Given the description of an element on the screen output the (x, y) to click on. 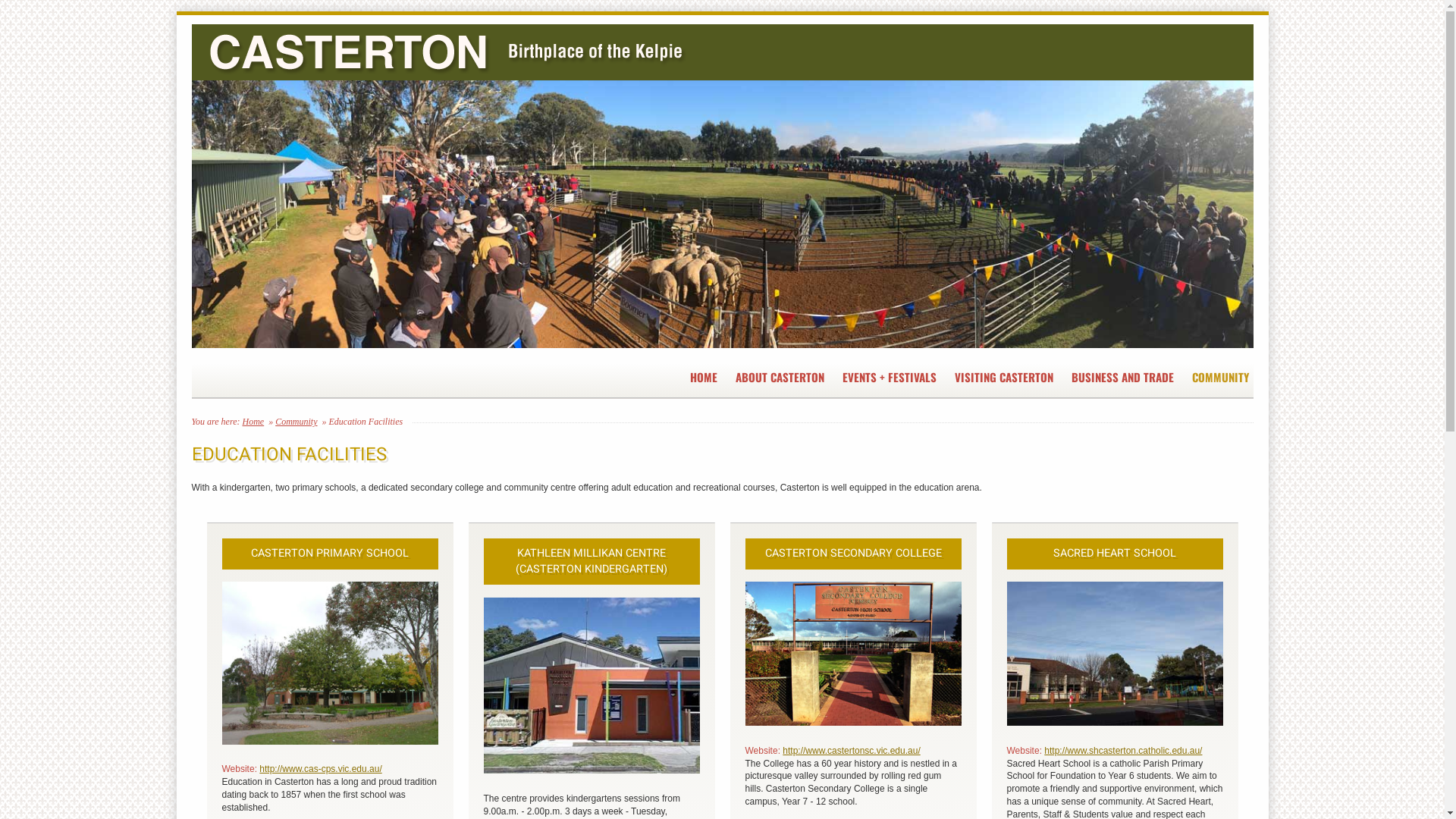
http://www.castertonsc.vic.edu.au/ Element type: text (850, 750)
Casterton Element type: hover (721, 186)
HOME Element type: text (701, 377)
Home Element type: text (253, 421)
http://www.cas-cps.vic.edu.au/ Element type: text (320, 768)
VISITING CASTERTON Element type: text (1001, 377)
ABOUT CASTERTON Element type: text (778, 377)
BUSINESS AND TRADE Element type: text (1120, 377)
EVENTS + FESTIVALS Element type: text (887, 377)
COMMUNITY Element type: text (1218, 377)
http://www.shcasterton.catholic.edu.au/ Element type: text (1122, 750)
Community Element type: text (295, 421)
